Given the description of an element on the screen output the (x, y) to click on. 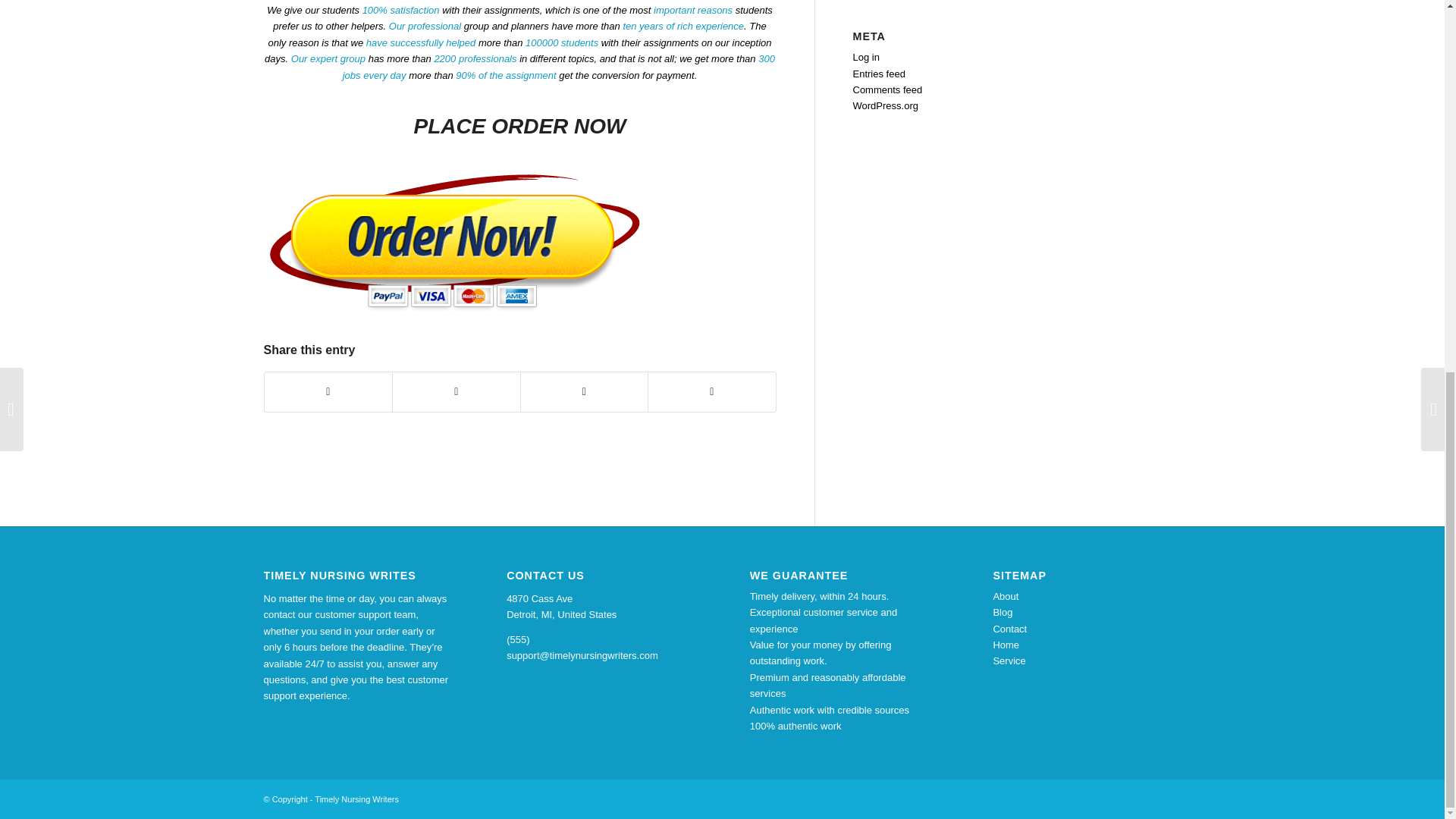
have successfully helped (421, 42)
ten years of rich experience (683, 25)
important reasons (692, 9)
300 jobs every day (558, 66)
Our professional (424, 25)
2200 professionals (474, 58)
100000 students (561, 42)
PLACE ORDER NOW (519, 126)
Our expert group (328, 58)
